Given the description of an element on the screen output the (x, y) to click on. 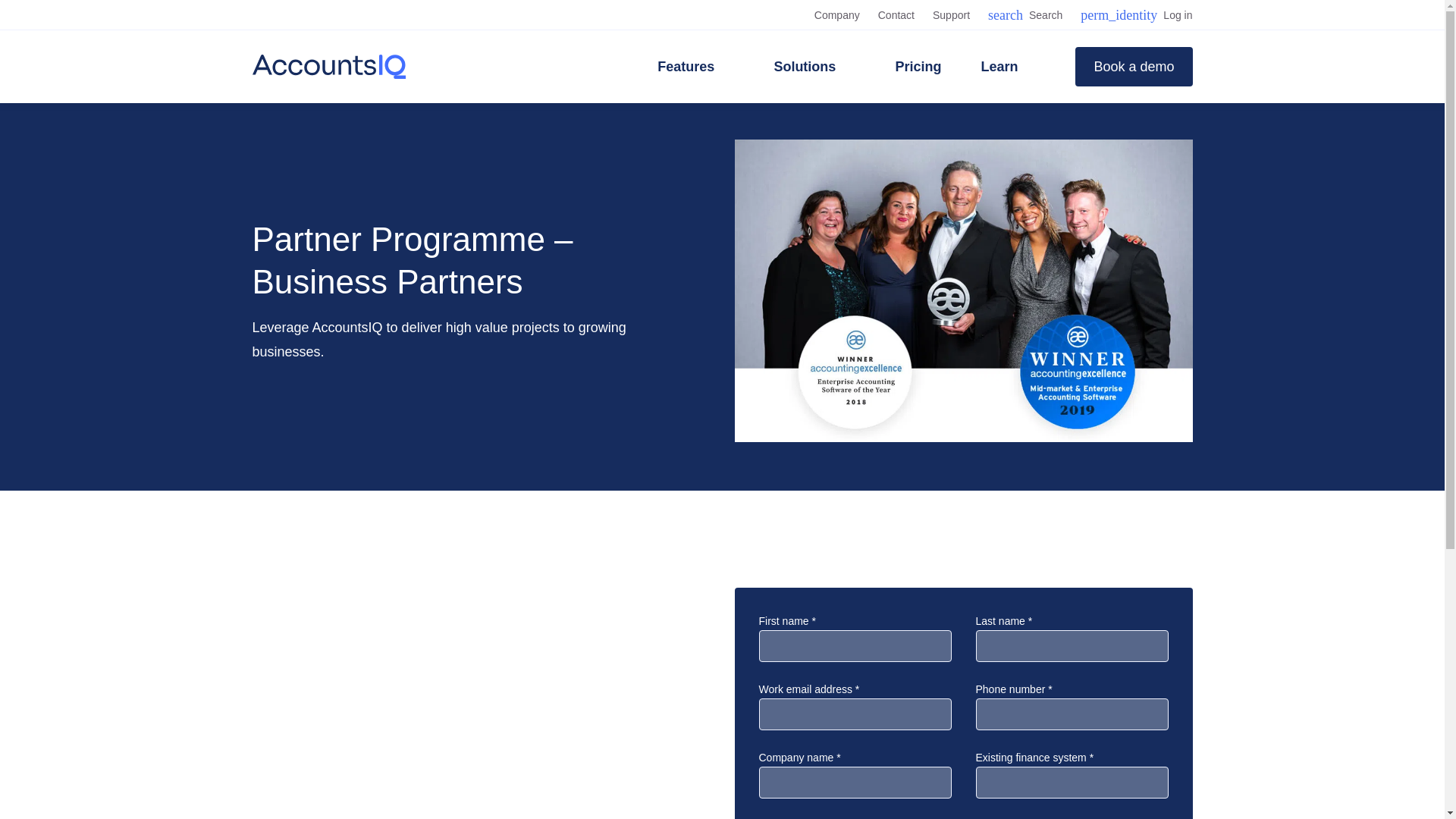
Support (951, 14)
Contact (895, 14)
Solutions (1025, 14)
Features (814, 66)
Financial Management Software (695, 66)
Company (327, 66)
